Given the description of an element on the screen output the (x, y) to click on. 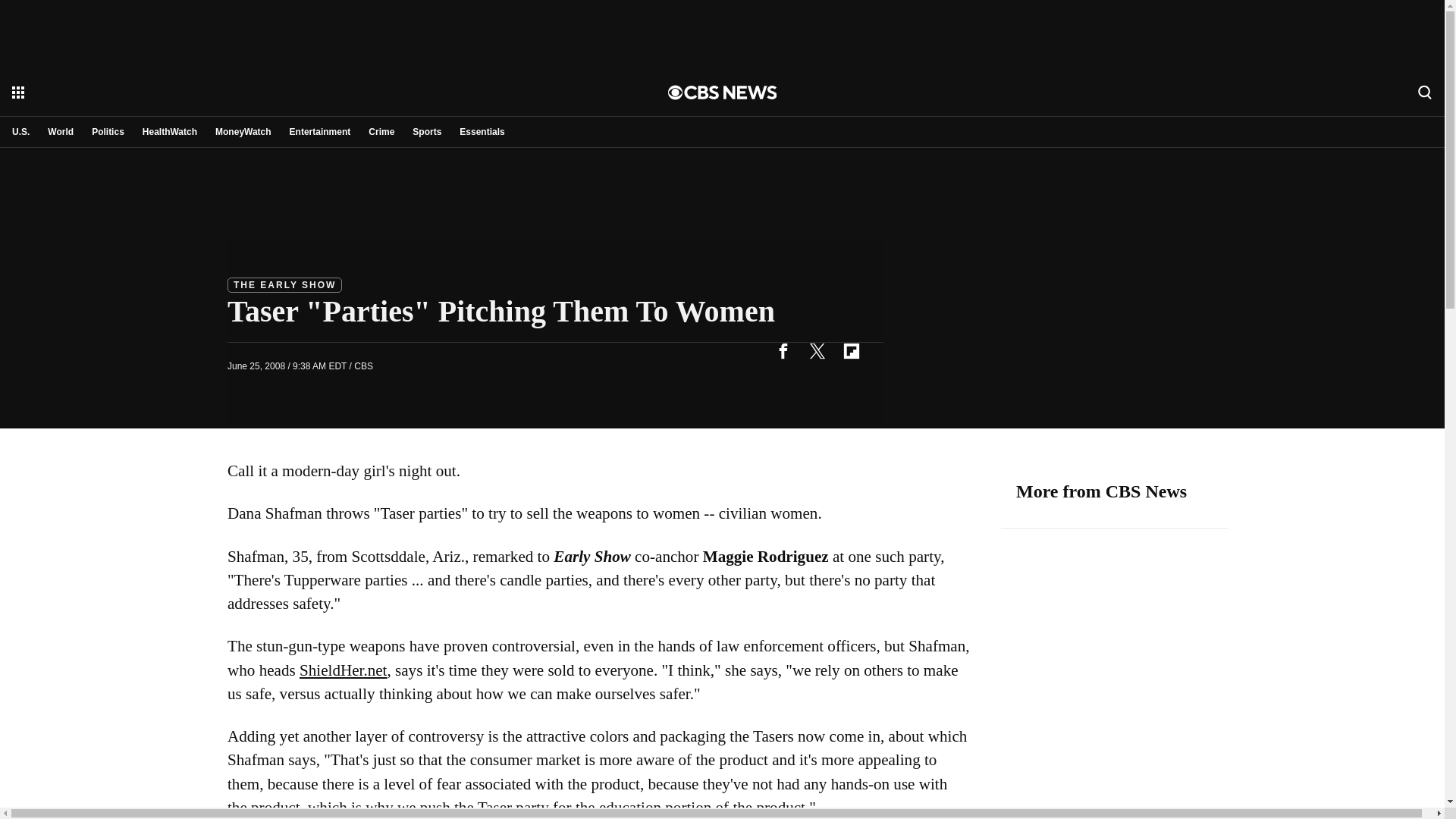
facebook (782, 350)
twitter (816, 350)
flipboard (850, 350)
